Given the description of an element on the screen output the (x, y) to click on. 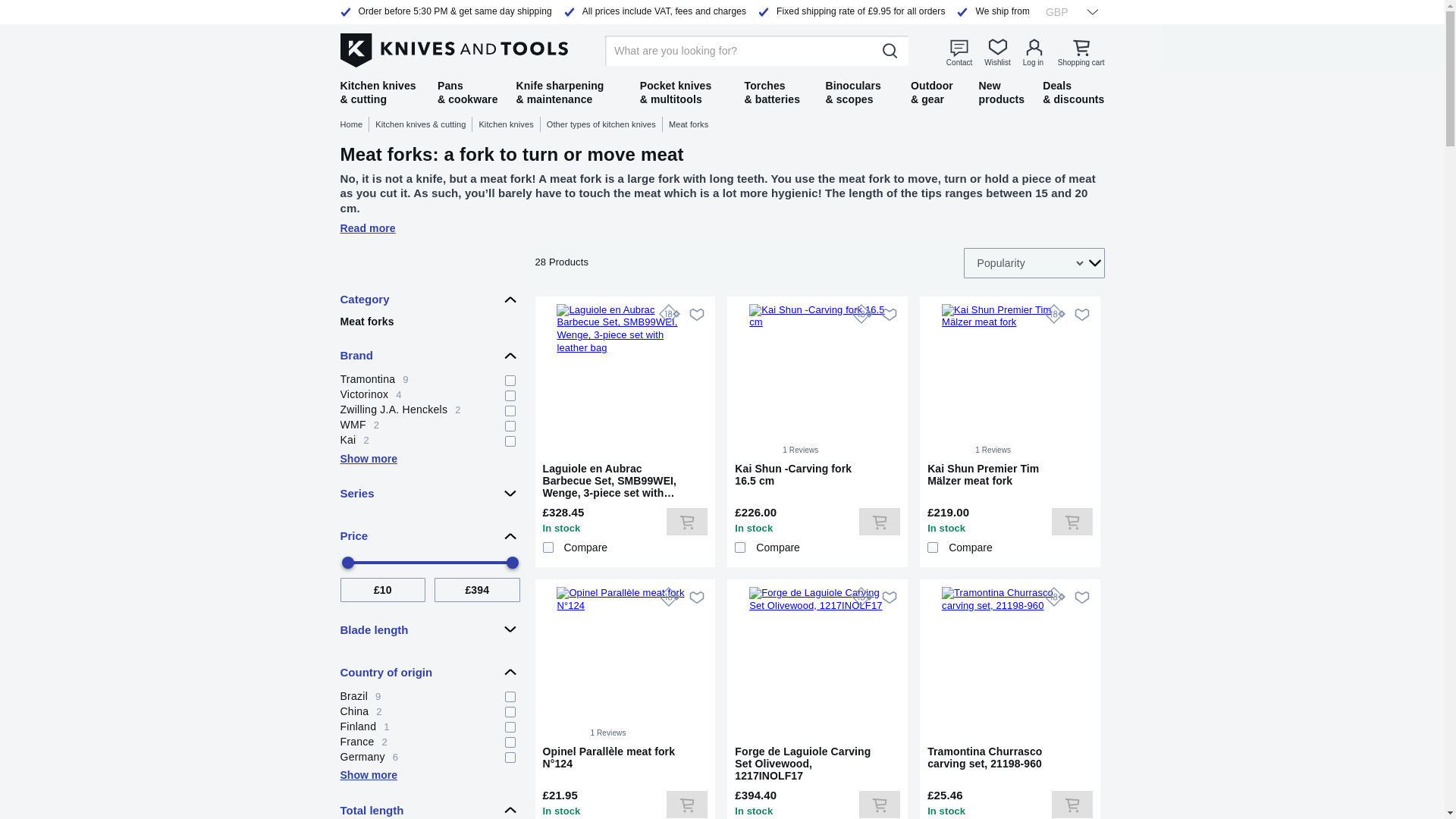
Category (429, 299)
Home (354, 124)
Meat forks (429, 408)
Other types of kitchen knives (429, 321)
Kitchen knives (604, 124)
Show more (509, 124)
Brand (367, 458)
Shopping cart (429, 355)
New products (429, 378)
Read more (1081, 52)
